Given the description of an element on the screen output the (x, y) to click on. 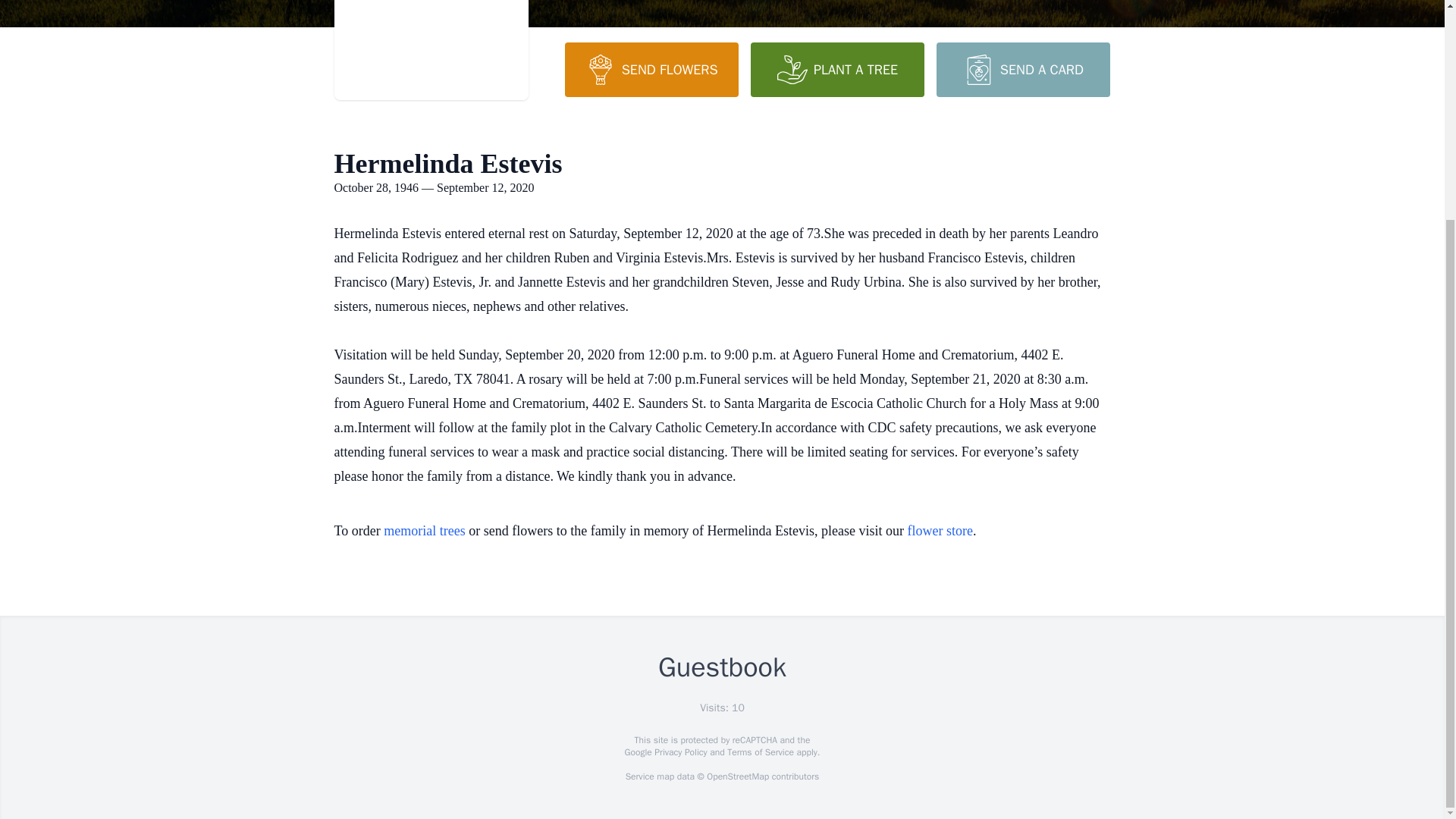
flower store (939, 530)
SEND A CARD (1022, 69)
OpenStreetMap (737, 776)
memorial trees (424, 530)
Terms of Service (759, 752)
SEND FLOWERS (651, 69)
PLANT A TREE (837, 69)
Privacy Policy (679, 752)
